Given the description of an element on the screen output the (x, y) to click on. 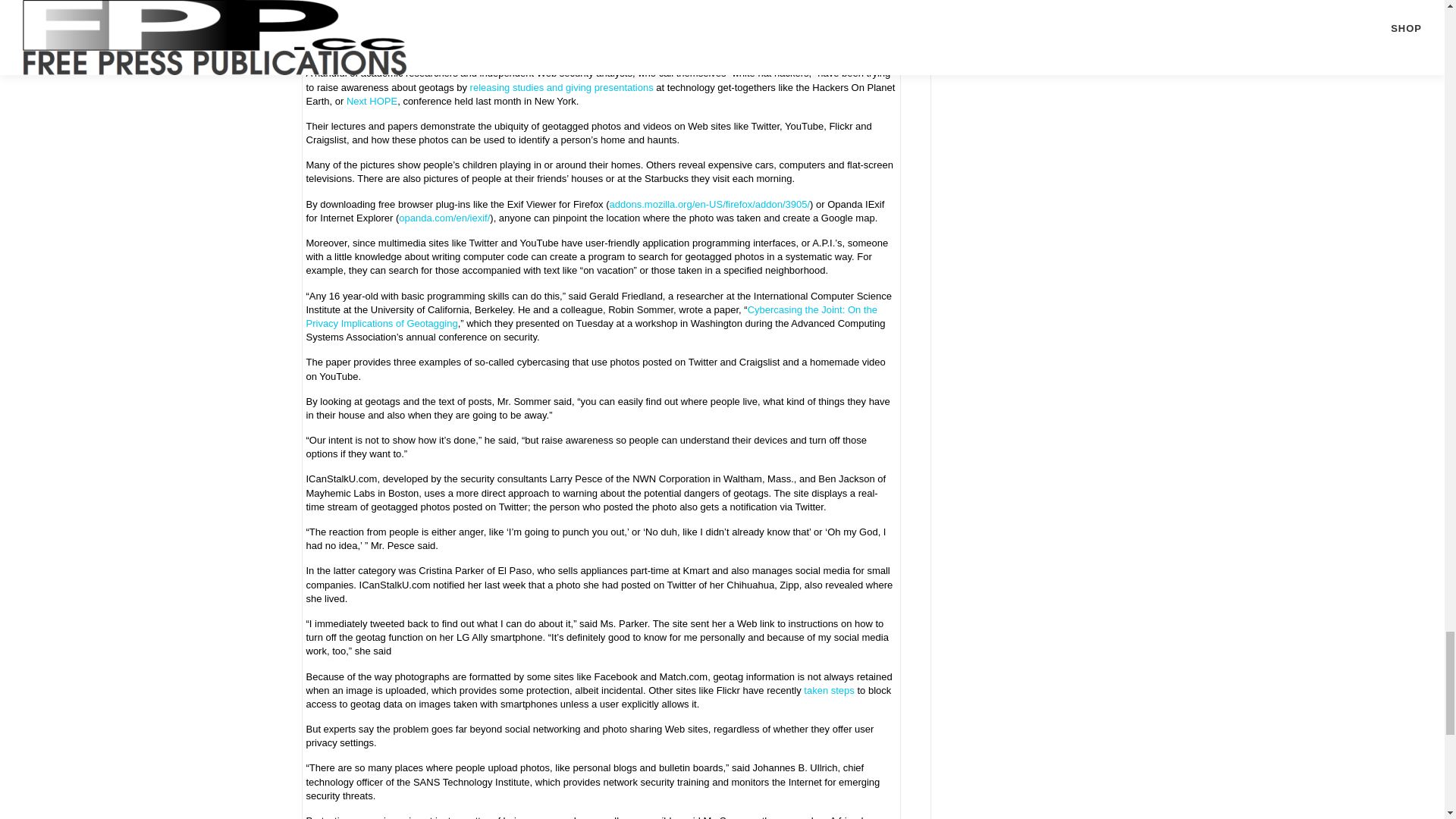
ICanStalkU.com (402, 0)
